Given the description of an element on the screen output the (x, y) to click on. 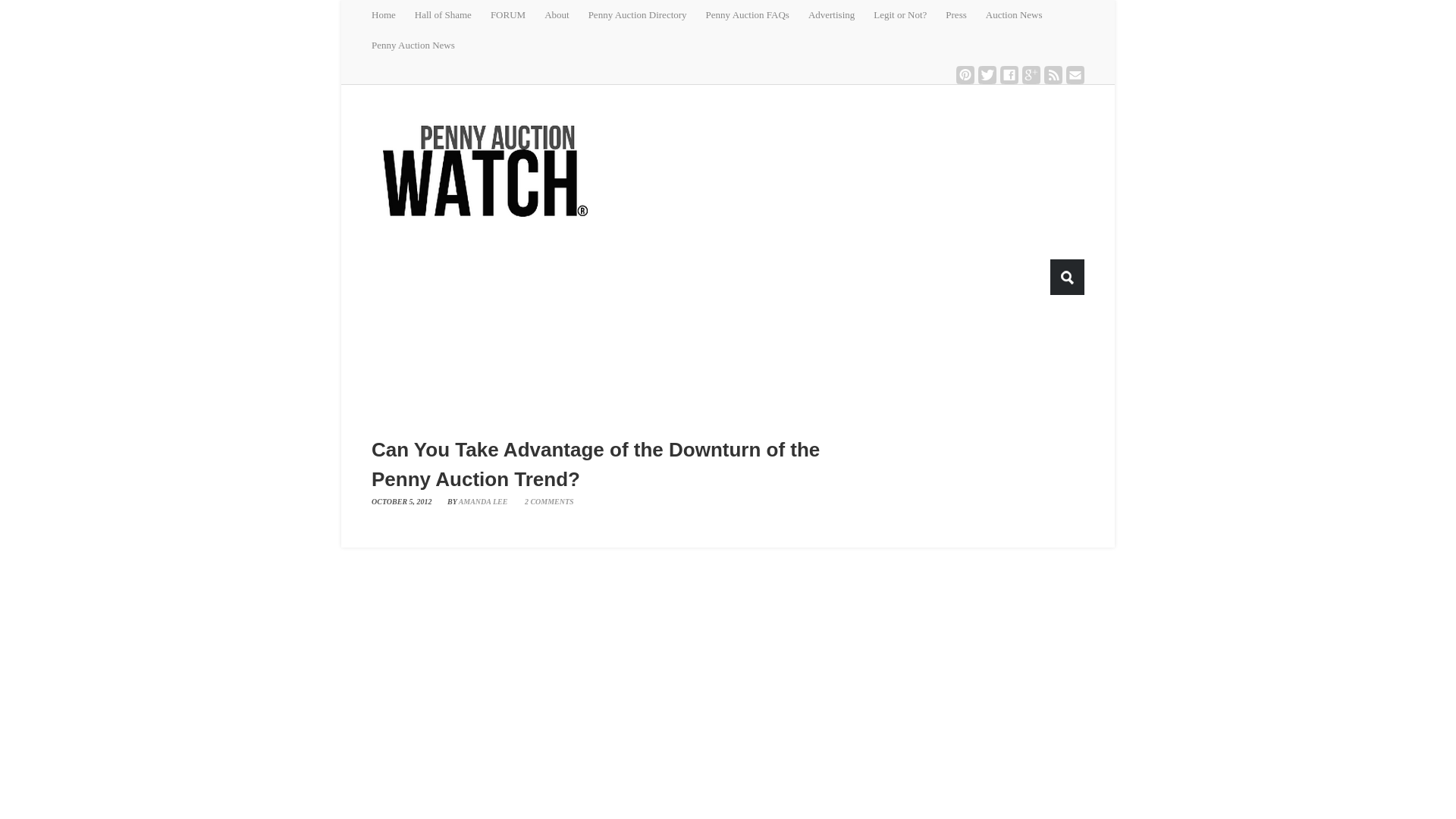
About (566, 15)
Hall of Shame (452, 15)
2012-10-05 (407, 501)
back to home page (485, 170)
Press (964, 15)
FORUM (517, 15)
Google Plus (1031, 75)
Pinterest (965, 75)
Auction News (1023, 15)
2 COMMENTS (543, 501)
